Given the description of an element on the screen output the (x, y) to click on. 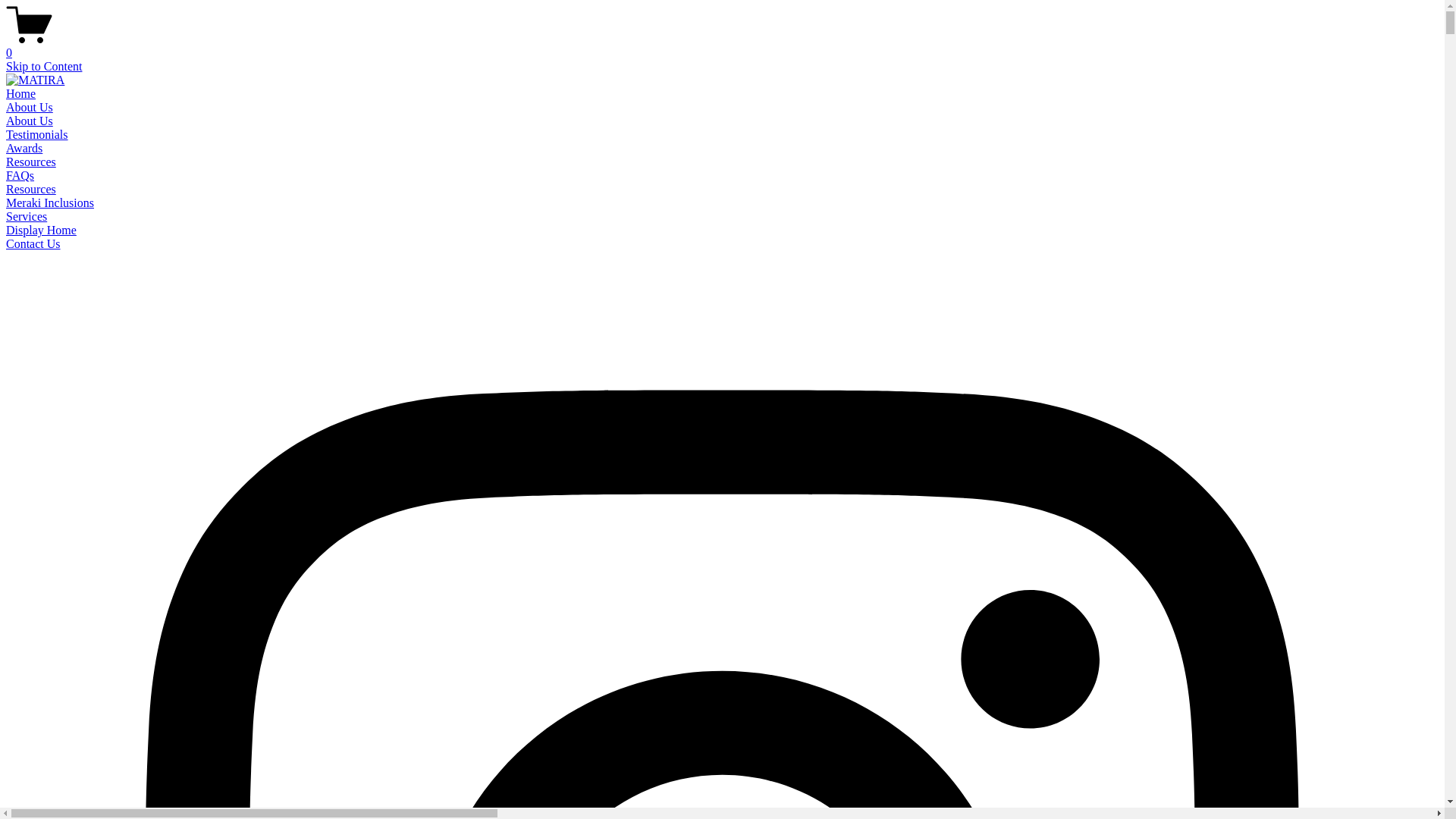
Services Element type: text (26, 216)
About Us Element type: text (29, 106)
Display Home Element type: text (41, 229)
Contact Us Element type: text (33, 243)
Meraki Inclusions Element type: text (50, 202)
FAQs Element type: text (20, 175)
Home Element type: text (20, 93)
Testimonials Element type: text (37, 134)
Resources Element type: text (31, 161)
Resources Element type: text (31, 188)
Awards Element type: text (24, 147)
About Us Element type: text (29, 120)
0 Element type: text (722, 45)
Skip to Content Element type: text (43, 65)
